Given the description of an element on the screen output the (x, y) to click on. 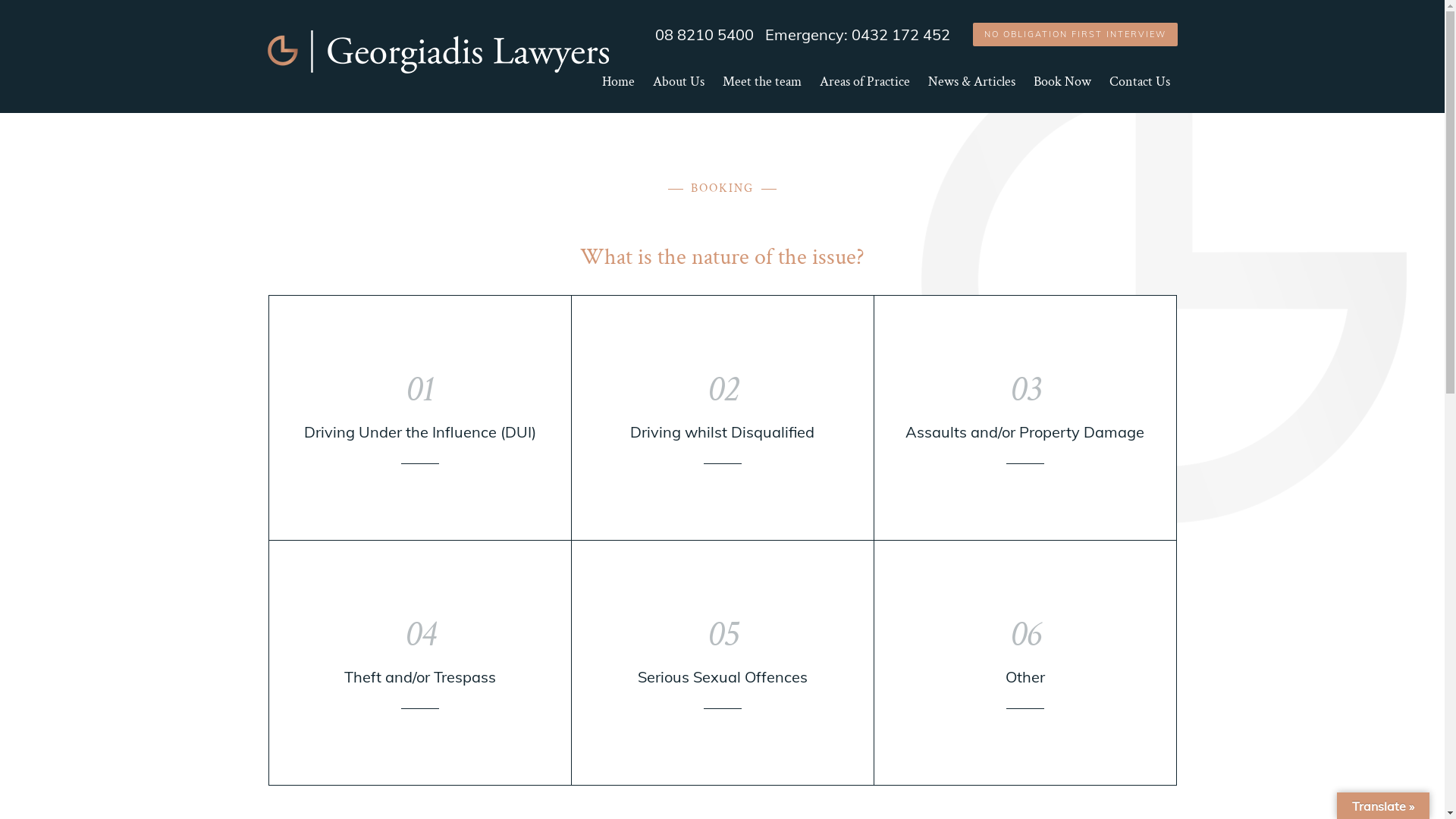
Meet the team Element type: text (760, 92)
08 8210 5400 Element type: text (704, 34)
NO OBLIGATION FIRST INTERVIEW Element type: text (1074, 34)
News & Articles Element type: text (971, 92)
Emergency: 0432 172 452 Element type: text (856, 34)
Home Element type: text (618, 92)
03
Assaults and/or Property Damage Element type: text (1024, 417)
Contact Us Element type: text (1138, 92)
04
Theft and/or Trespass Element type: text (419, 662)
06
Other Element type: text (1024, 662)
05
Serious Sexual Offences Element type: text (722, 662)
01
Driving Under the Influence (DUI) Element type: text (419, 417)
About Us Element type: text (677, 92)
Book Now Element type: text (1061, 92)
02
Driving whilst Disqualified Element type: text (722, 417)
Areas of Practice Element type: text (864, 92)
